Given the description of an element on the screen output the (x, y) to click on. 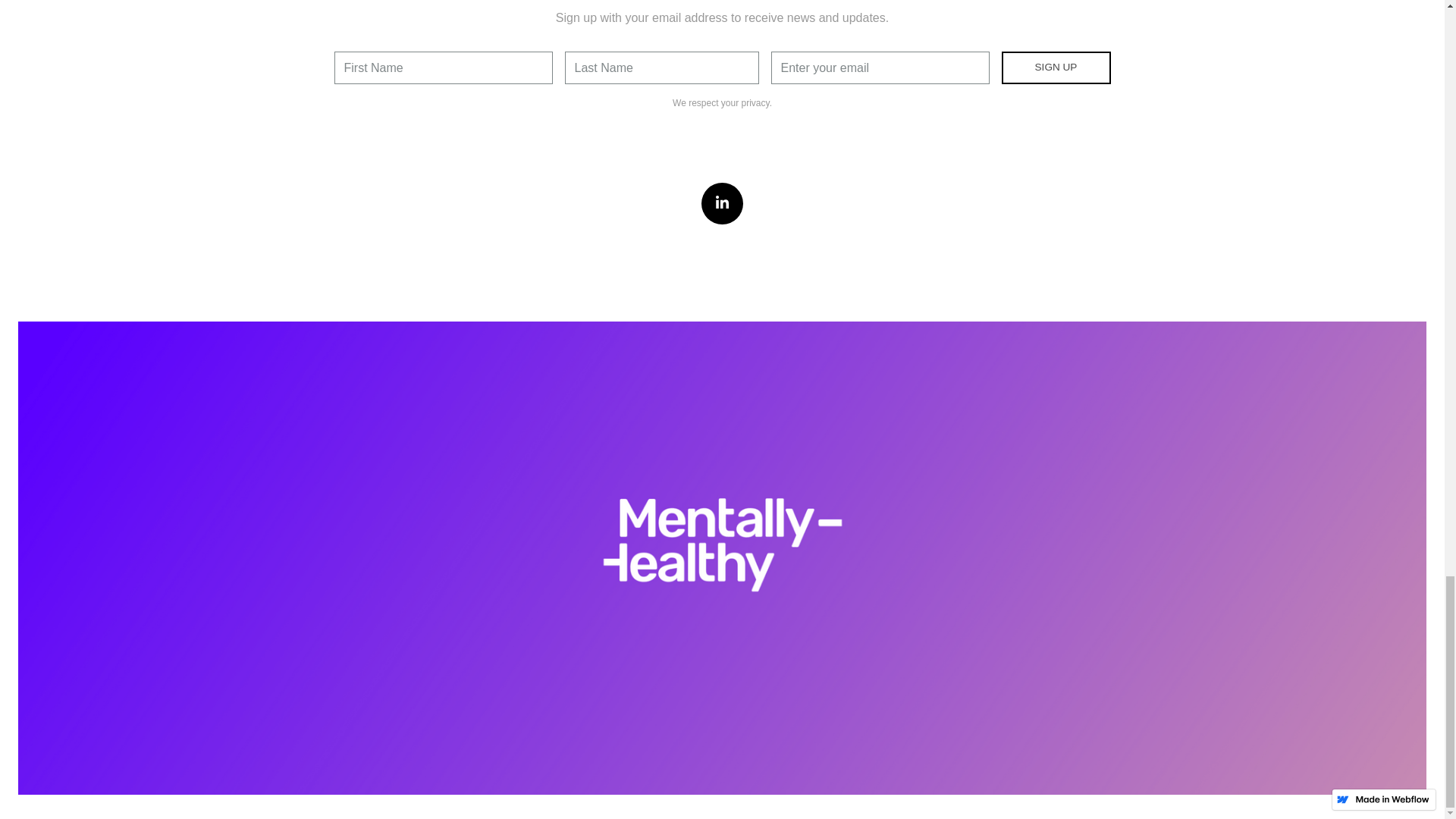
Sign Up (1055, 68)
Sign Up (1055, 68)
